Given the description of an element on the screen output the (x, y) to click on. 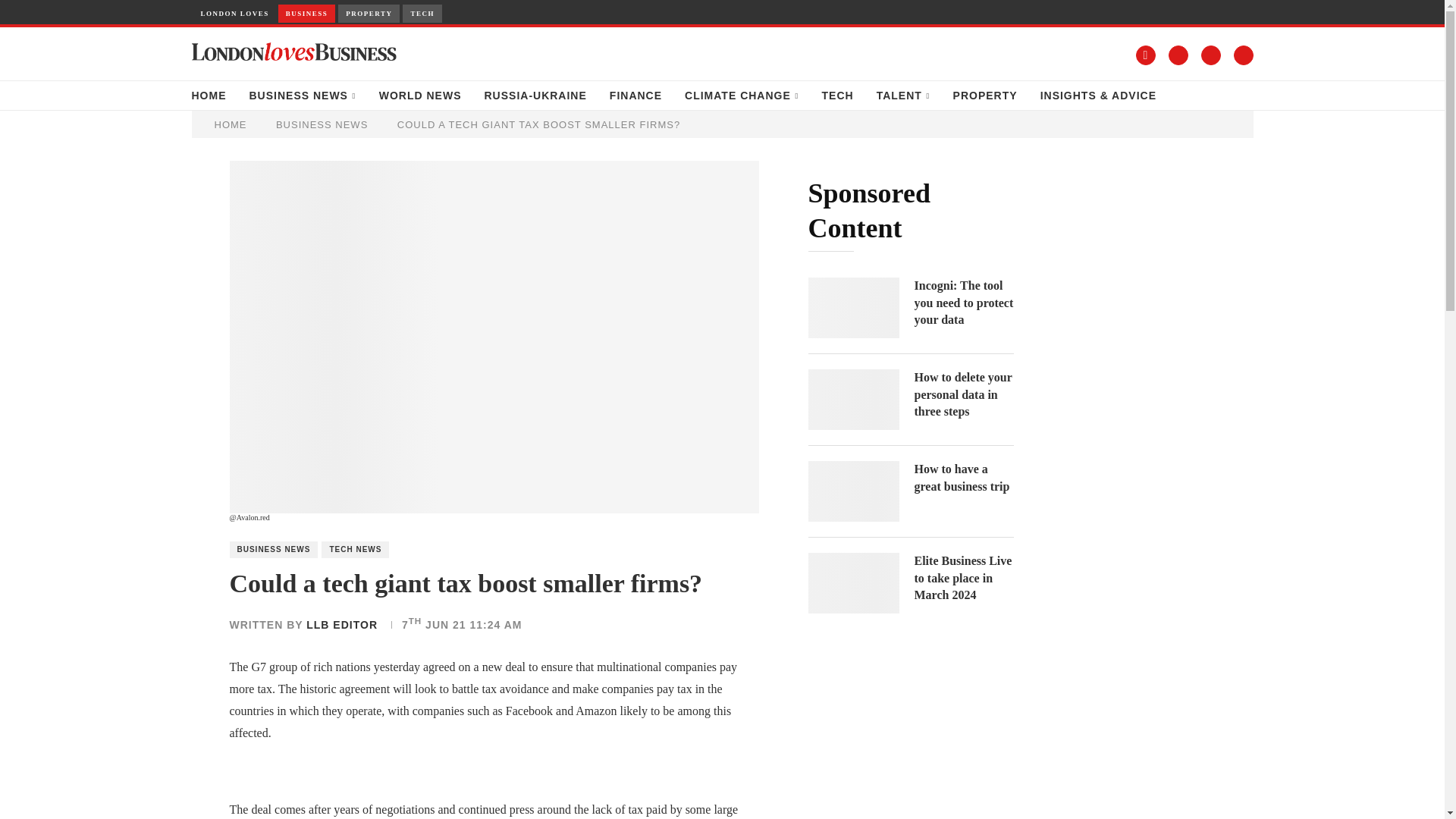
Incogni: The tool you need to protect your data (963, 302)
Incogni: The tool you need to protect your data (853, 307)
How to delete your personal data in three steps (853, 399)
